Given the description of an element on the screen output the (x, y) to click on. 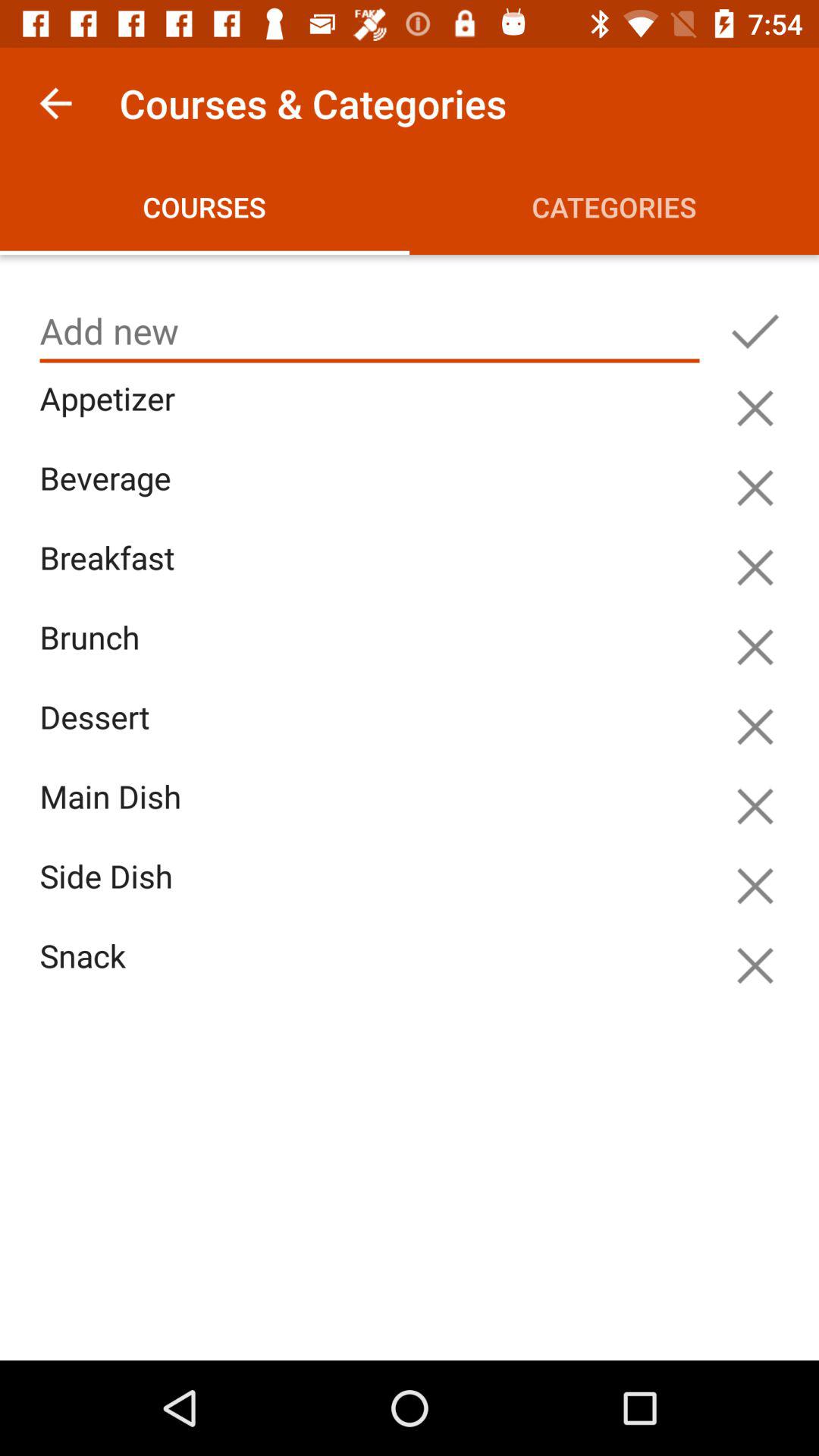
remove button (755, 726)
